Given the description of an element on the screen output the (x, y) to click on. 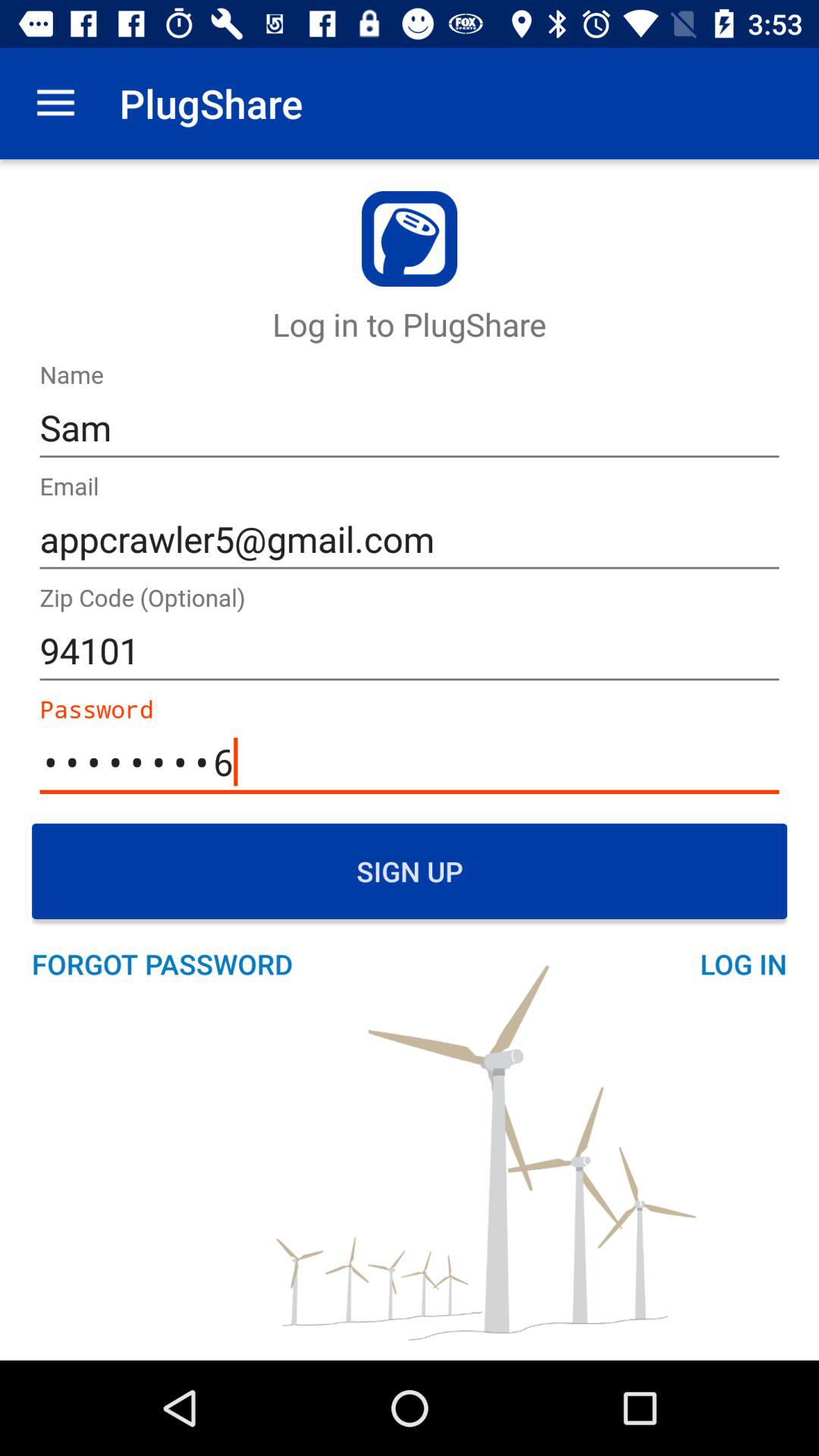
tap the 94101 icon (409, 651)
